Given the description of an element on the screen output the (x, y) to click on. 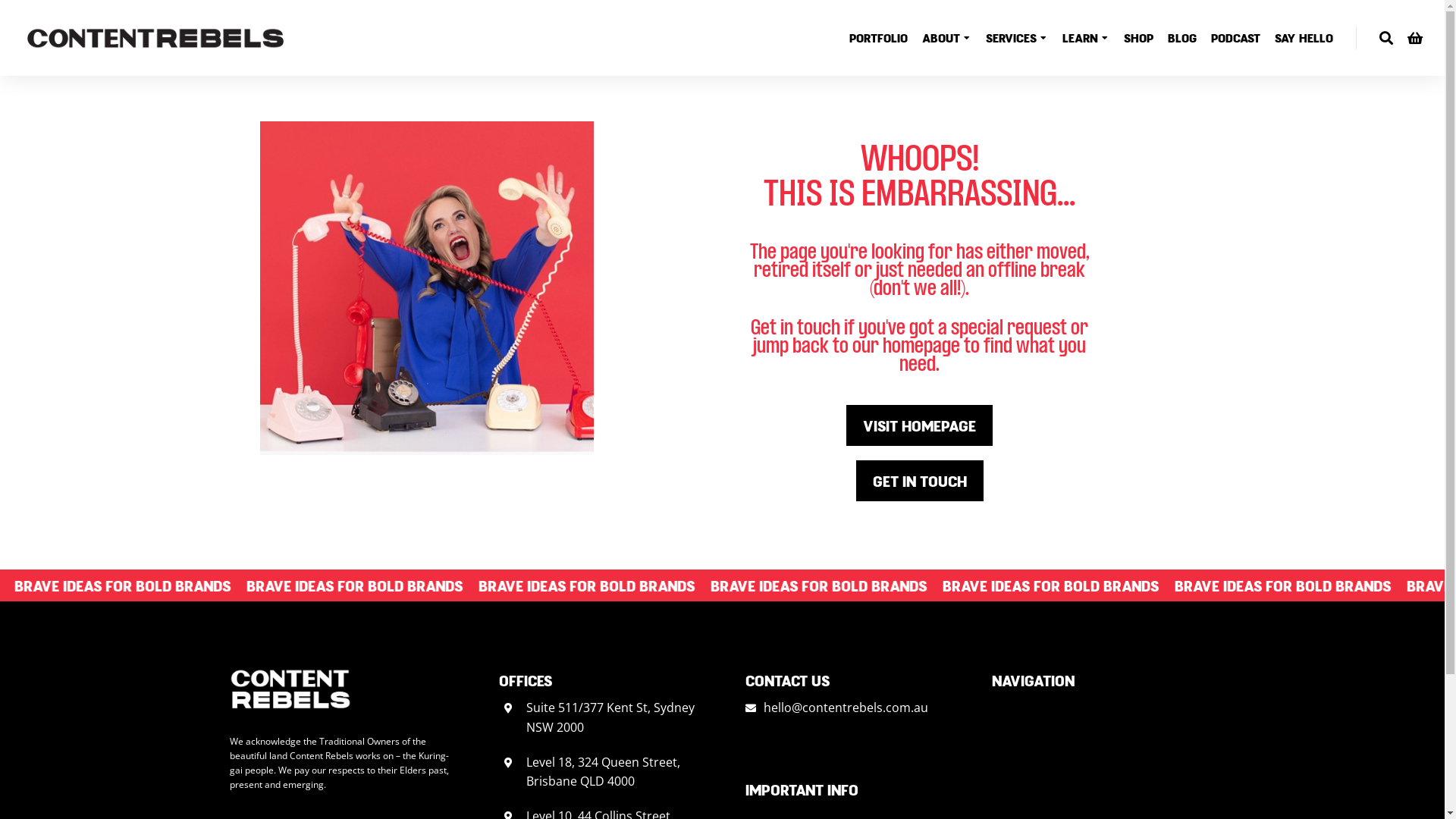
GET IN TOUCH Element type: text (918, 480)
ABOUT Element type: text (946, 37)
VISIT HOMEPAGE Element type: text (919, 424)
PODCAST Element type: text (1235, 37)
hello@contentrebels.com.au Element type: text (844, 707)
Level 18, 324 Queen Street, Brisbane QLD 4000 Element type: text (603, 771)
BLOG Element type: text (1181, 37)
SHOP Element type: text (1138, 37)
SAY HELLO Element type: text (1303, 37)
SERVICES Element type: text (1016, 37)
Suite 511/377 Kent St, Sydney NSW 2000 Element type: text (610, 717)
PORTFOLIO Element type: text (878, 37)
LEARN Element type: text (1085, 37)
